Given the description of an element on the screen output the (x, y) to click on. 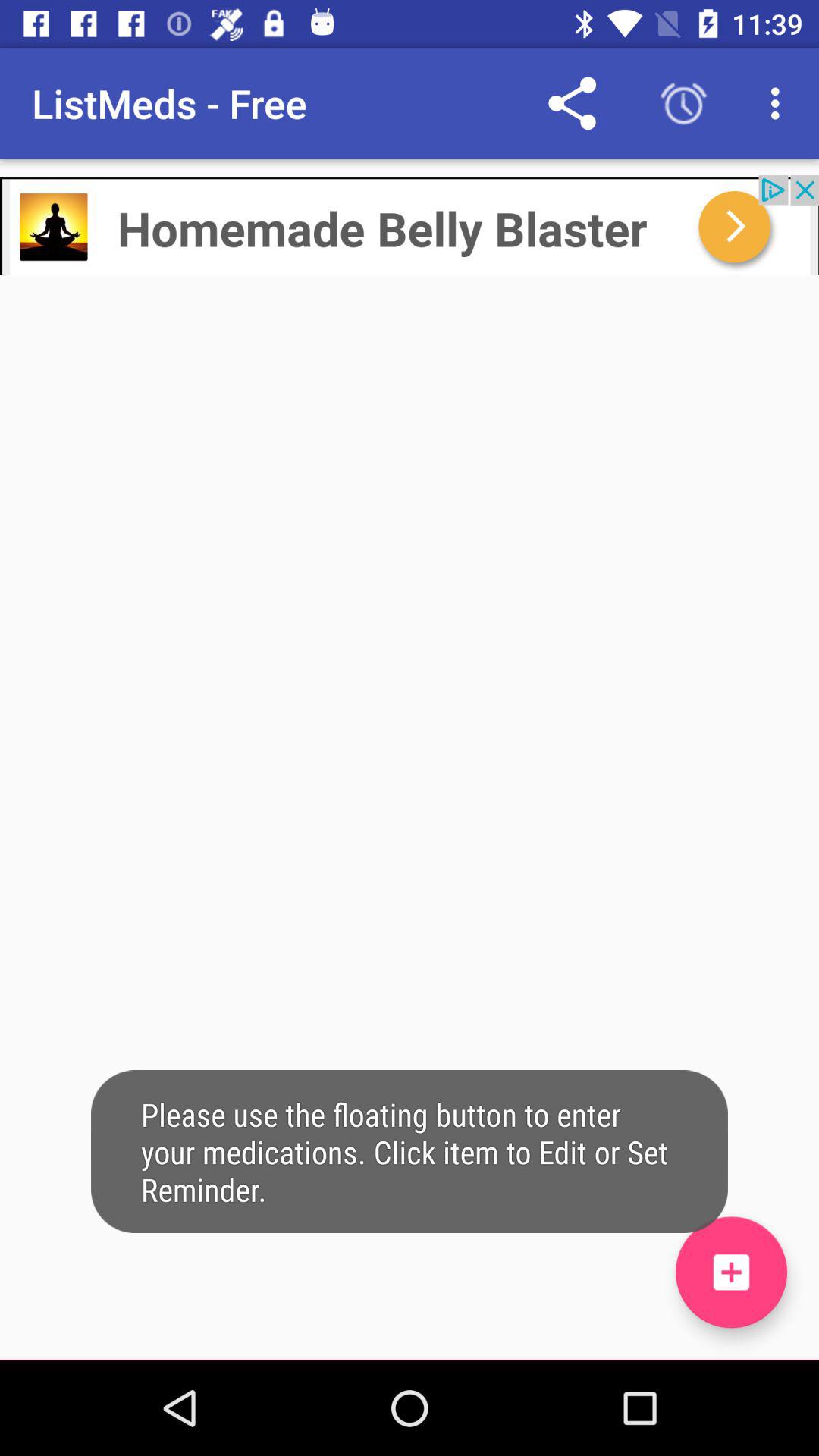
click on the button to enter your medications (731, 1272)
